Given the description of an element on the screen output the (x, y) to click on. 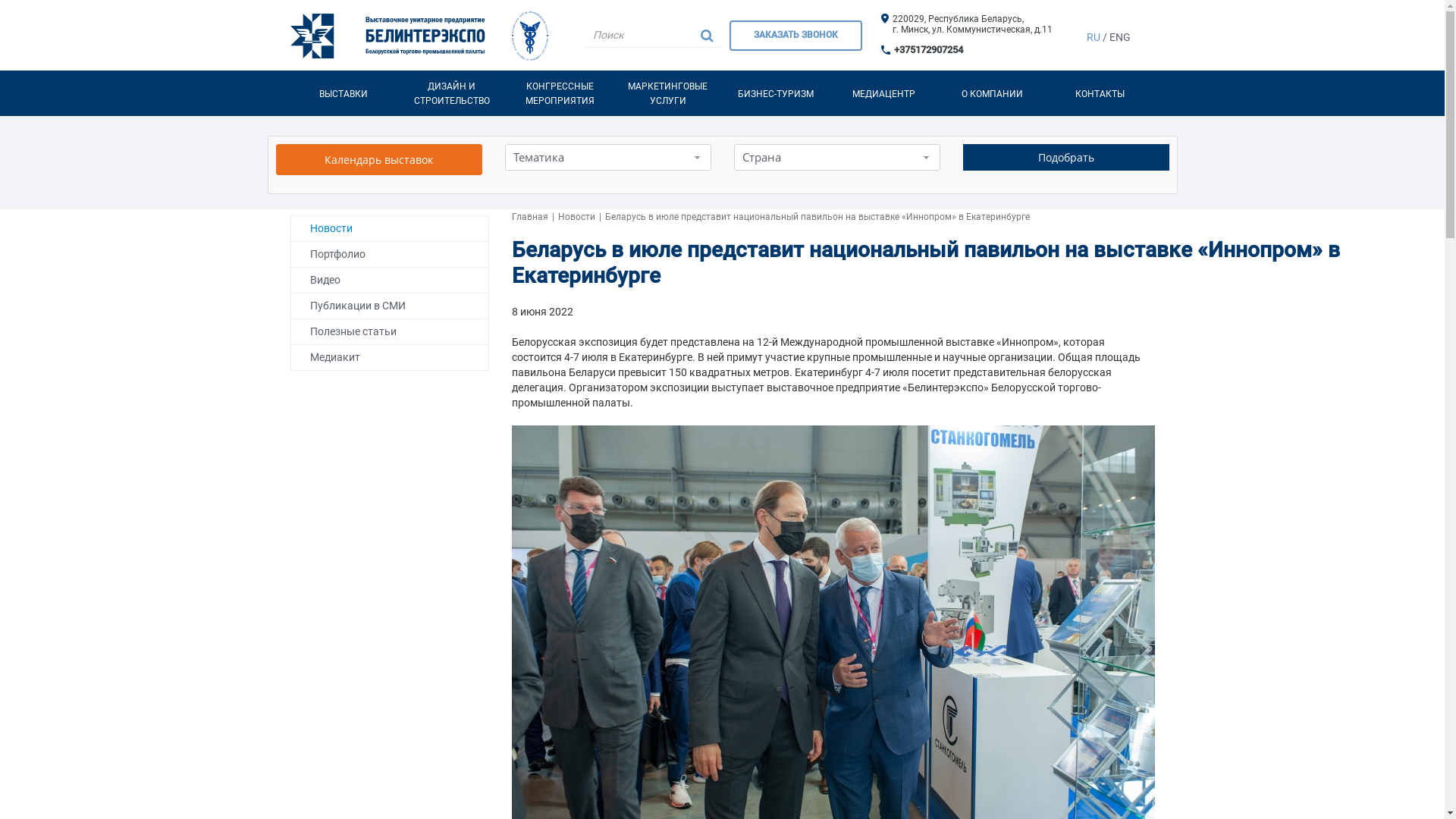
+375172907254 Element type: text (928, 49)
RU Element type: text (1093, 36)
ENG Element type: text (1119, 36)
